Given the description of an element on the screen output the (x, y) to click on. 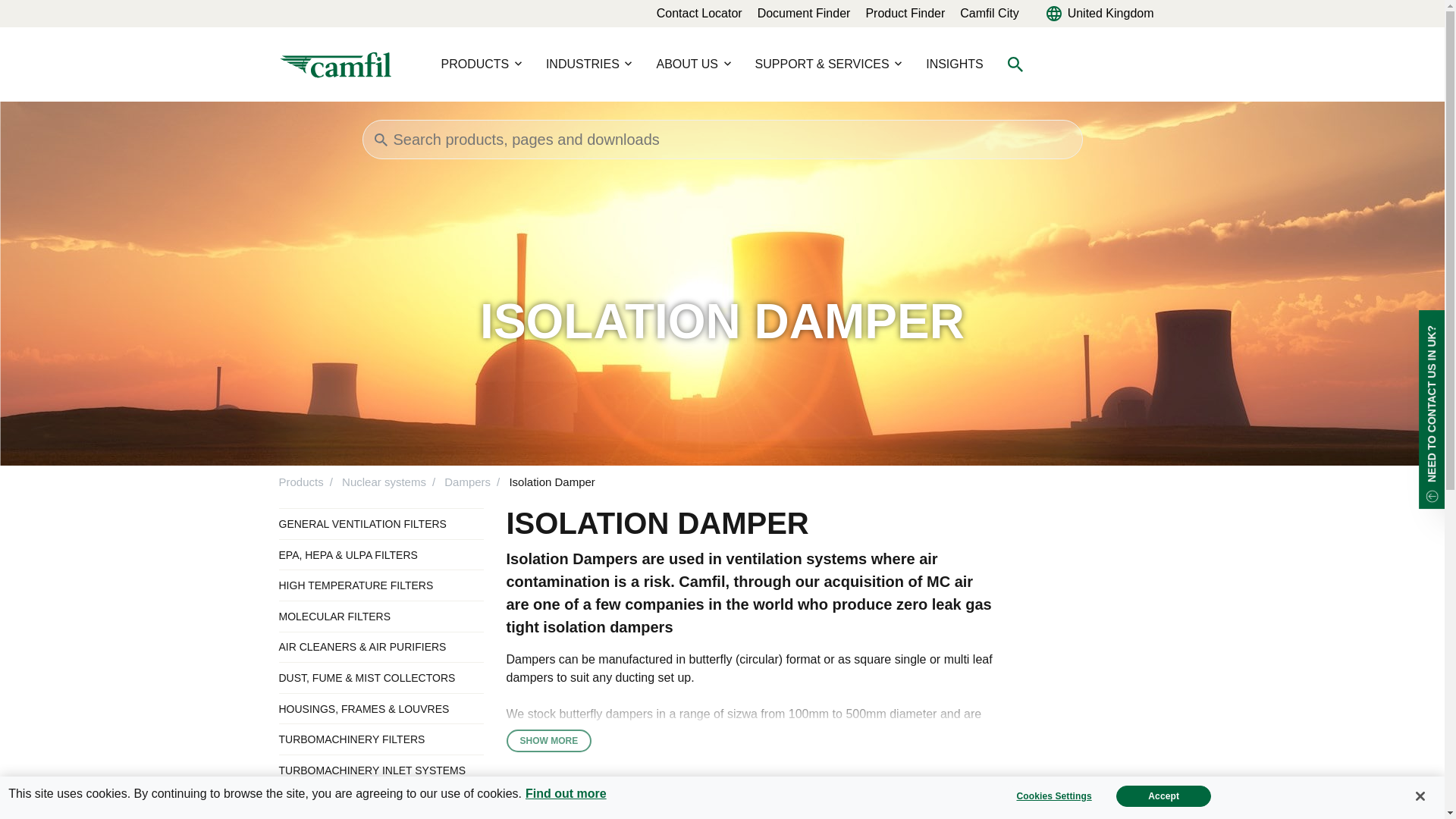
Contact Locator (699, 12)
United Kingdom (1099, 13)
Document Finder (803, 12)
Product Finder (904, 12)
Camfil City (988, 12)
